Given the description of an element on the screen output the (x, y) to click on. 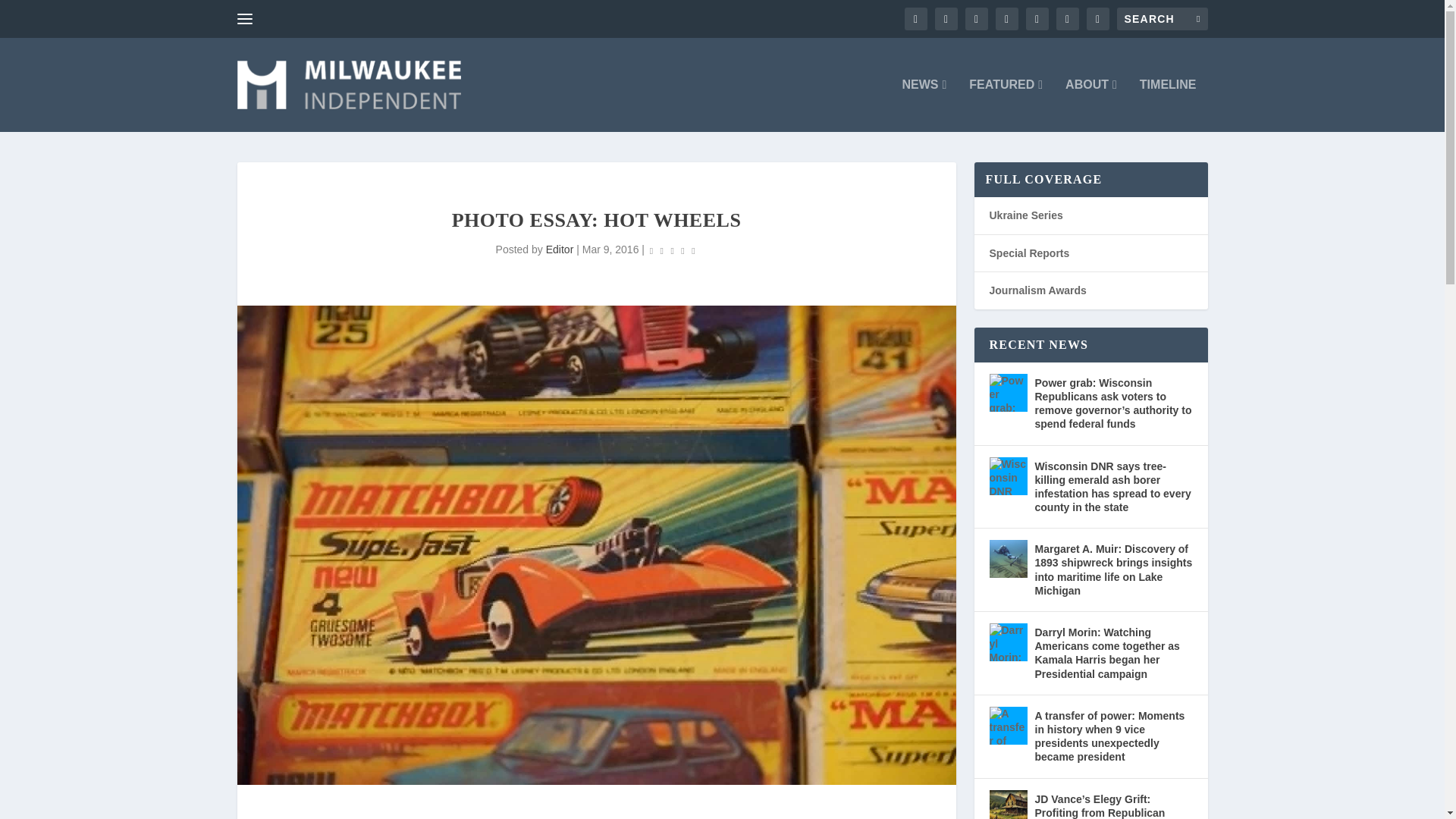
FEATURED (1005, 104)
Posts by Editor (559, 249)
Search for: (1161, 18)
Editor (559, 249)
ABOUT (1090, 104)
TIMELINE (1168, 104)
Rating: 0.00 (672, 250)
